Given the description of an element on the screen output the (x, y) to click on. 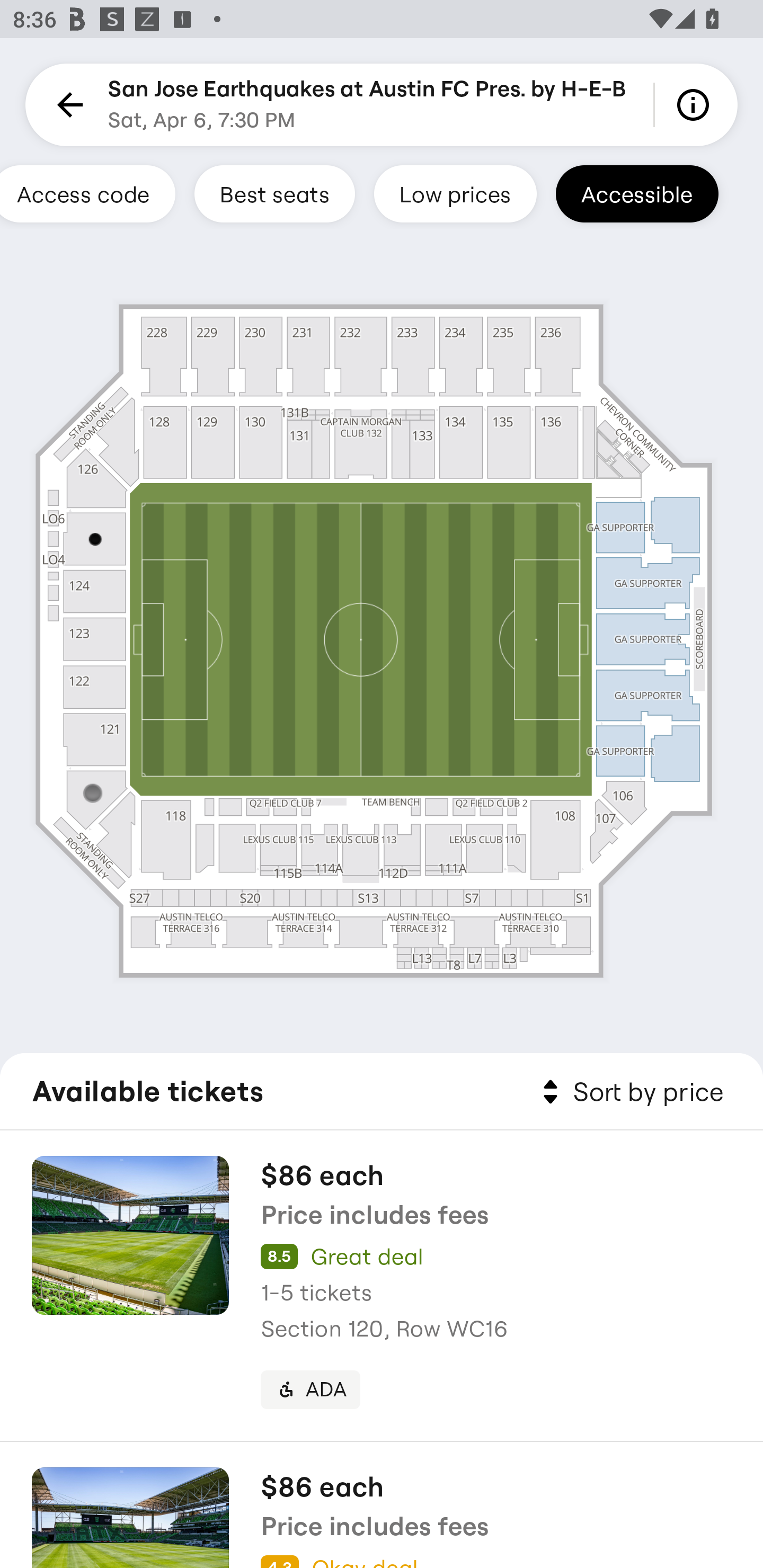
Back (66, 104)
Info (695, 104)
Access code (87, 193)
Best seats (274, 193)
Low prices (454, 193)
Accessible (636, 193)
Sort by price (629, 1091)
$86 each Price includes fees 4.3 Okay deal (381, 1505)
